Given the description of an element on the screen output the (x, y) to click on. 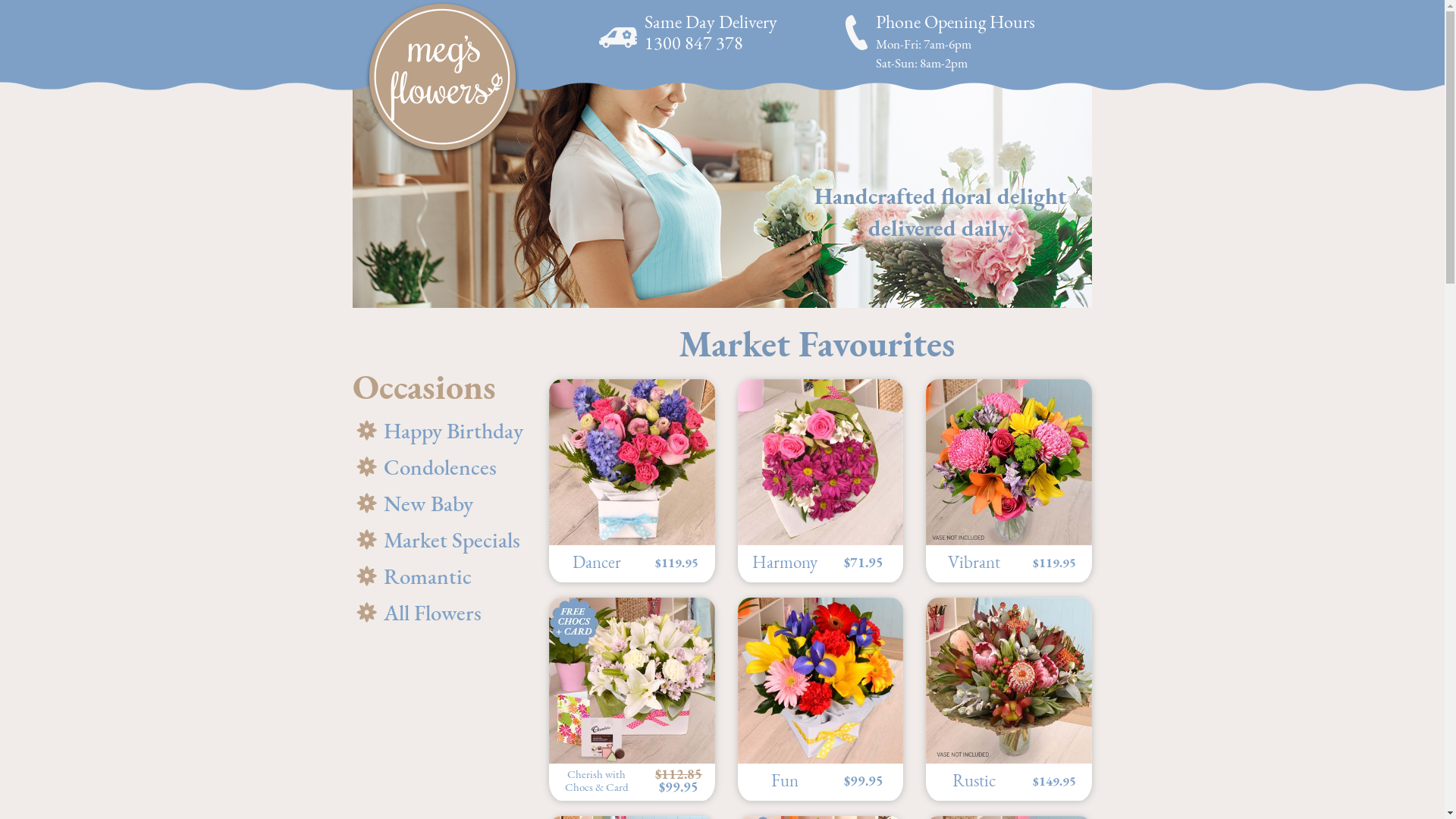
Cherish with Chocs & Card
$112.85 $99.95 Element type: text (632, 698)
Vibrant
$119.95 Element type: text (1008, 480)
Rustic
$149.95 Element type: text (1008, 698)
Romantic Element type: text (439, 576)
Market Specials Element type: text (439, 539)
Rustic Flowers Element type: hover (1008, 680)
Dancer
$119.95 Element type: text (632, 480)
Condolences Element type: text (439, 467)
Cherish with Chocs & Card Flowers Element type: hover (632, 680)
Dancer Flowers Element type: hover (632, 462)
Harmony
$71.95 Element type: text (820, 480)
Handcrafted floral delight delivered daily. Element type: text (722, 194)
Fun Flowers Element type: hover (820, 680)
Harmony Flowers Element type: hover (820, 462)
New Baby Element type: text (439, 503)
Vibrant Flowers Element type: hover (1008, 462)
All Flowers Element type: text (439, 612)
Happy Birthday Element type: text (439, 430)
Fun
$99.95 Element type: text (820, 698)
